Given the description of an element on the screen output the (x, y) to click on. 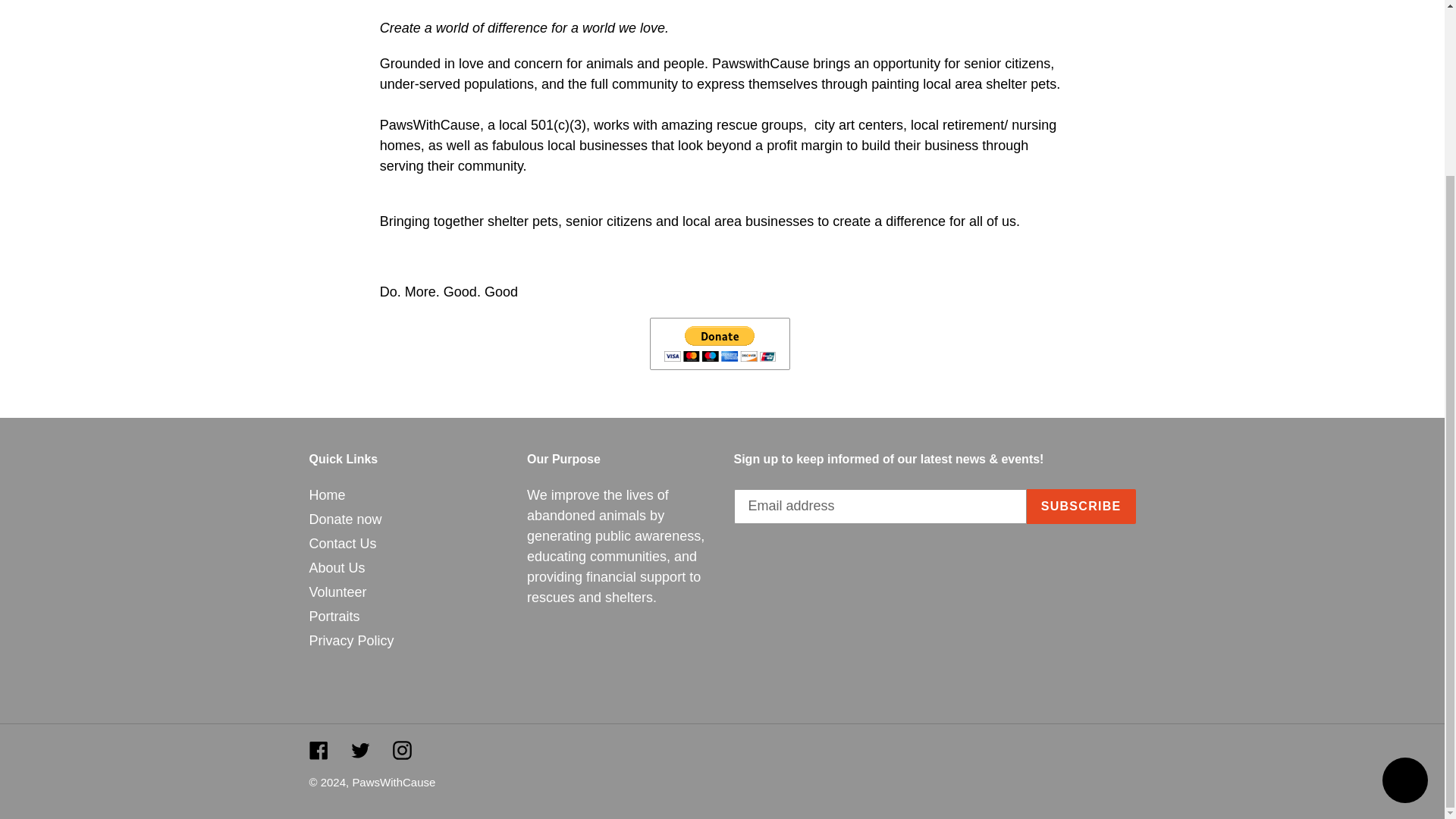
Home (327, 494)
Donate now (344, 519)
Contact Us (342, 543)
PayPal - The safer, easier way to pay online! (719, 343)
Shopify online store chat (1404, 568)
